Given the description of an element on the screen output the (x, y) to click on. 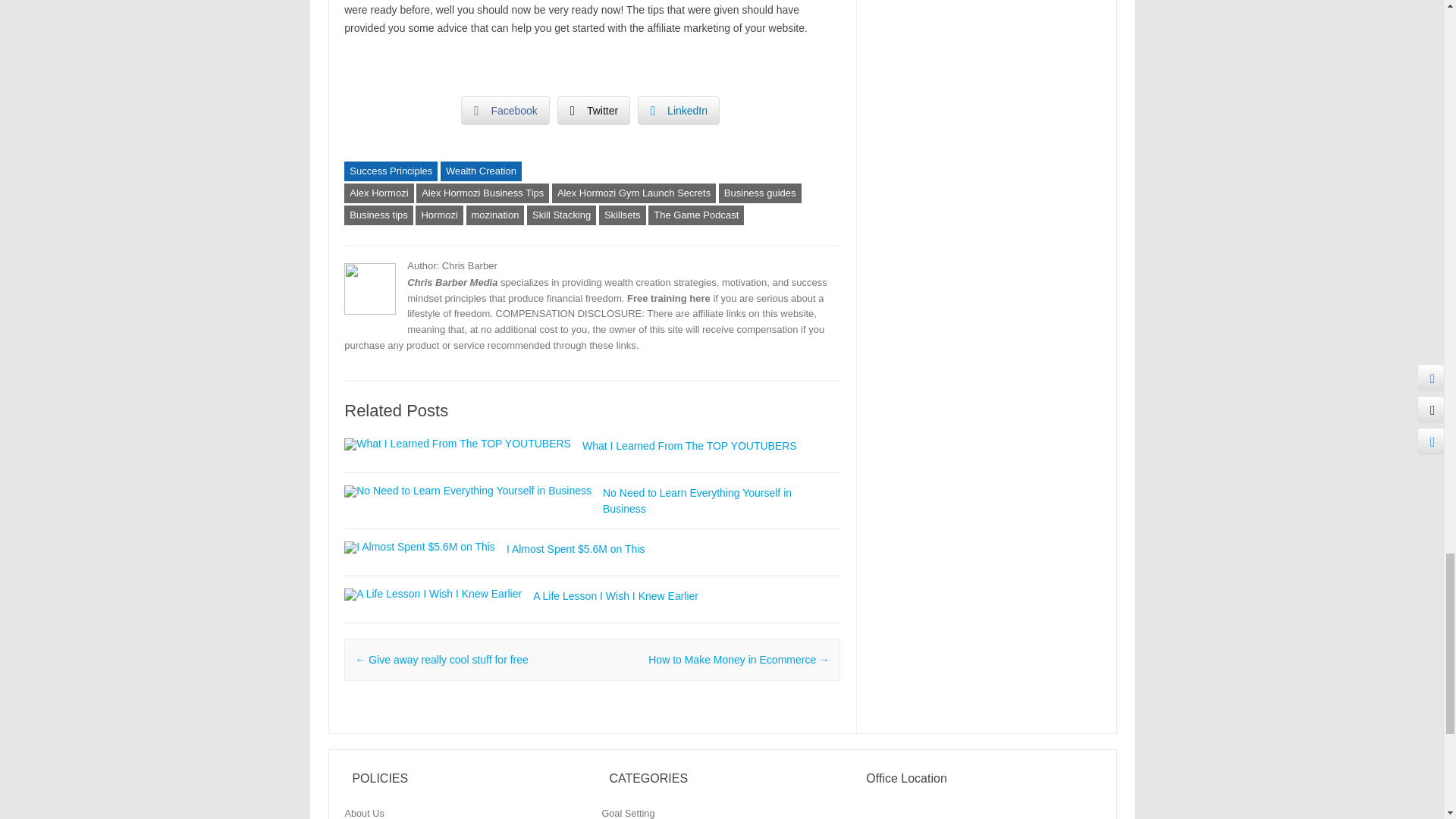
What I Learned From The TOP YOUTUBERS (689, 445)
What I Learned From The TOP YOUTUBERS (689, 445)
Skill Stacking (561, 215)
LinkedIn (678, 110)
A Life Lesson I Wish I Knew Earlier (615, 595)
The Game Podcast (695, 215)
No Need to Learn Everything Yourself in Business (697, 500)
Business guides (760, 193)
Alex Hormozi Gym Launch Secrets (633, 193)
No Need to Learn Everything Yourself in Business (697, 500)
